Given the description of an element on the screen output the (x, y) to click on. 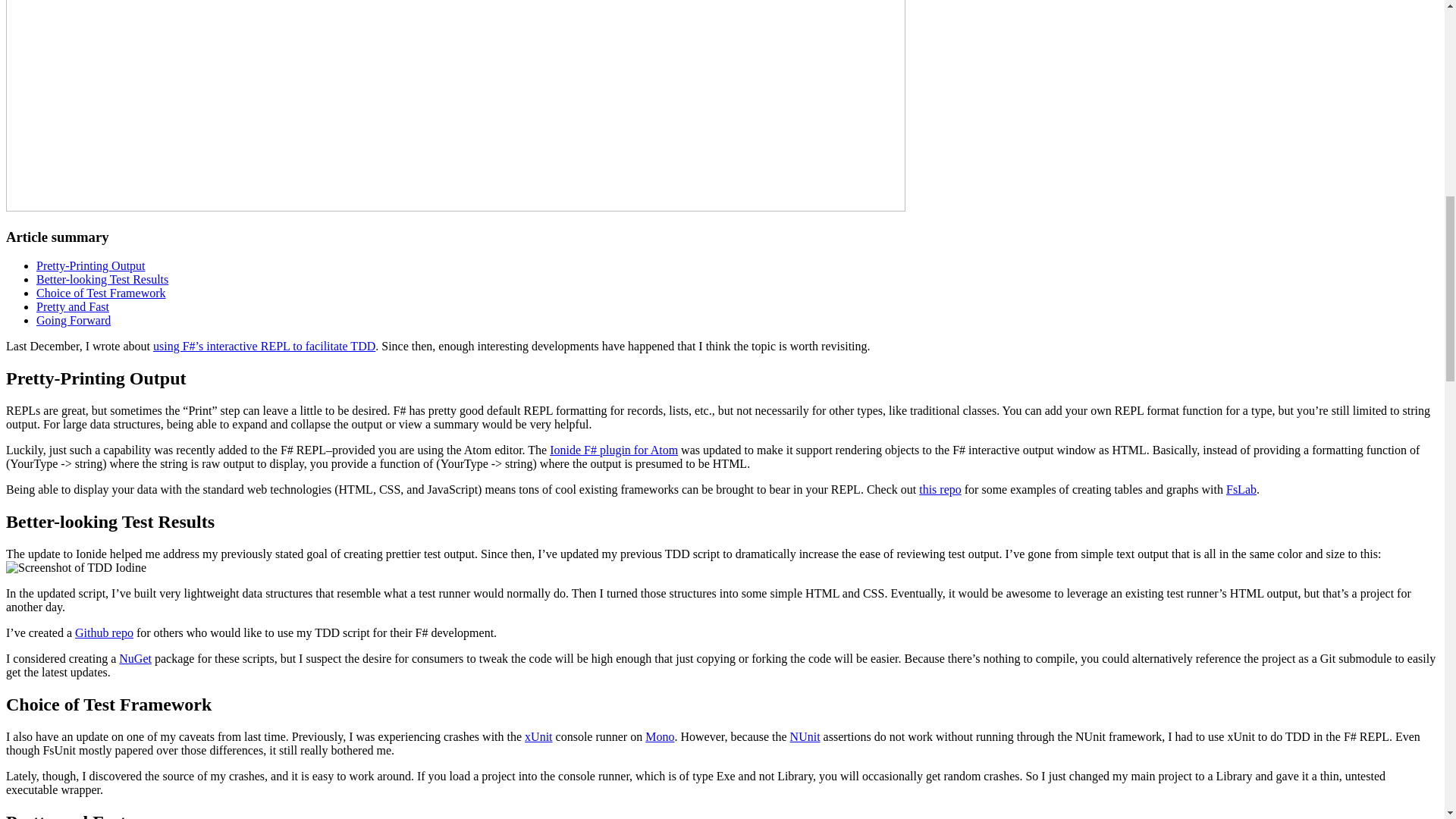
Pretty-Printing Output (90, 265)
Pretty and Fast (72, 306)
Better-looking Test Results (102, 278)
Choice of Test Framework (100, 292)
Going Forward (73, 319)
TDD Iodine (76, 567)
